Given the description of an element on the screen output the (x, y) to click on. 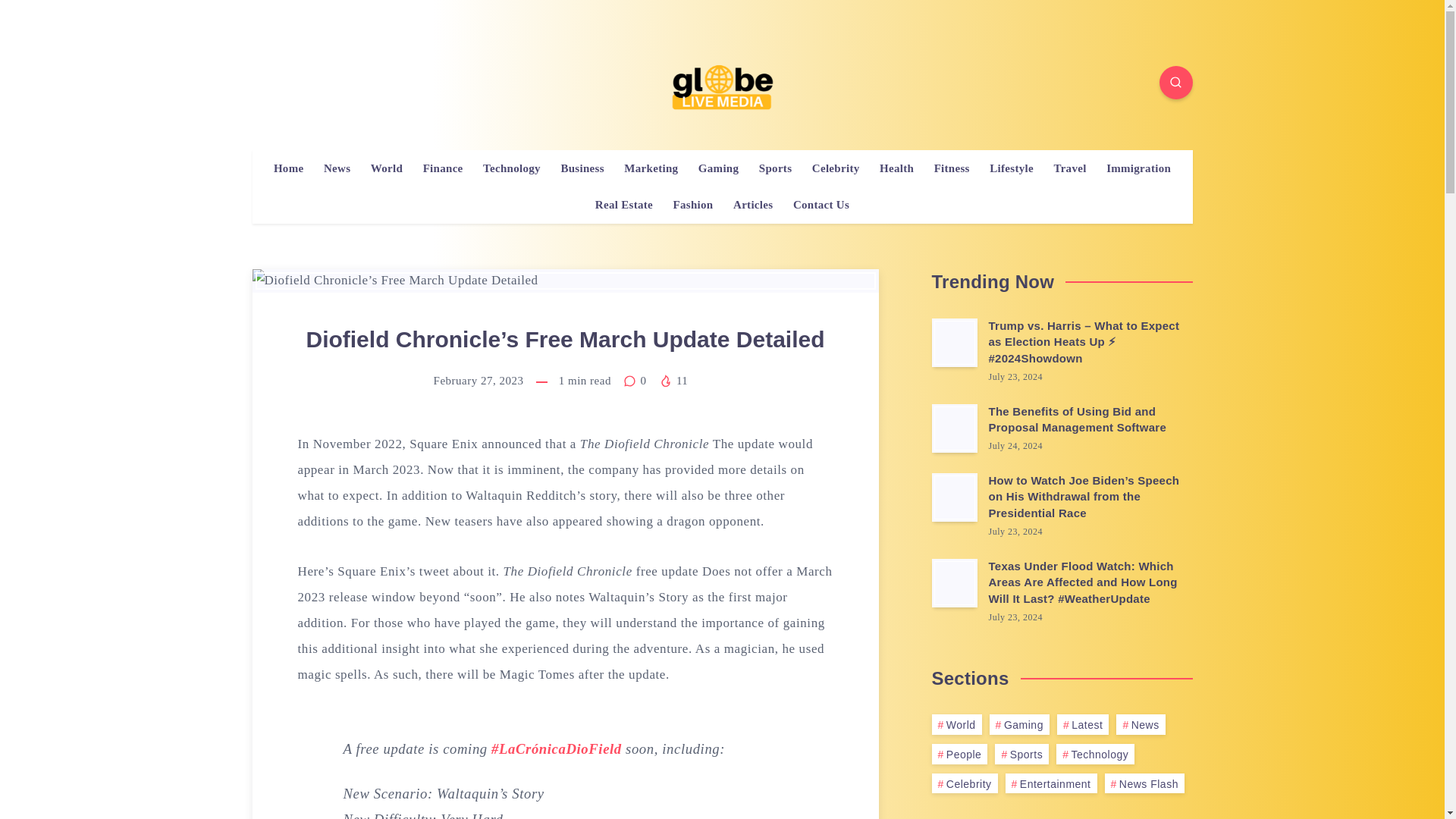
Celebrity (836, 168)
11 Views (673, 380)
Lifestyle (1011, 168)
Travel (1069, 168)
Gaming (718, 168)
Health (896, 168)
Finance (443, 168)
News (336, 168)
Fashion (692, 205)
World (387, 168)
Articles (753, 205)
Business (582, 168)
Fitness (951, 168)
0 Comments (636, 380)
Marketing (651, 168)
